Given the description of an element on the screen output the (x, y) to click on. 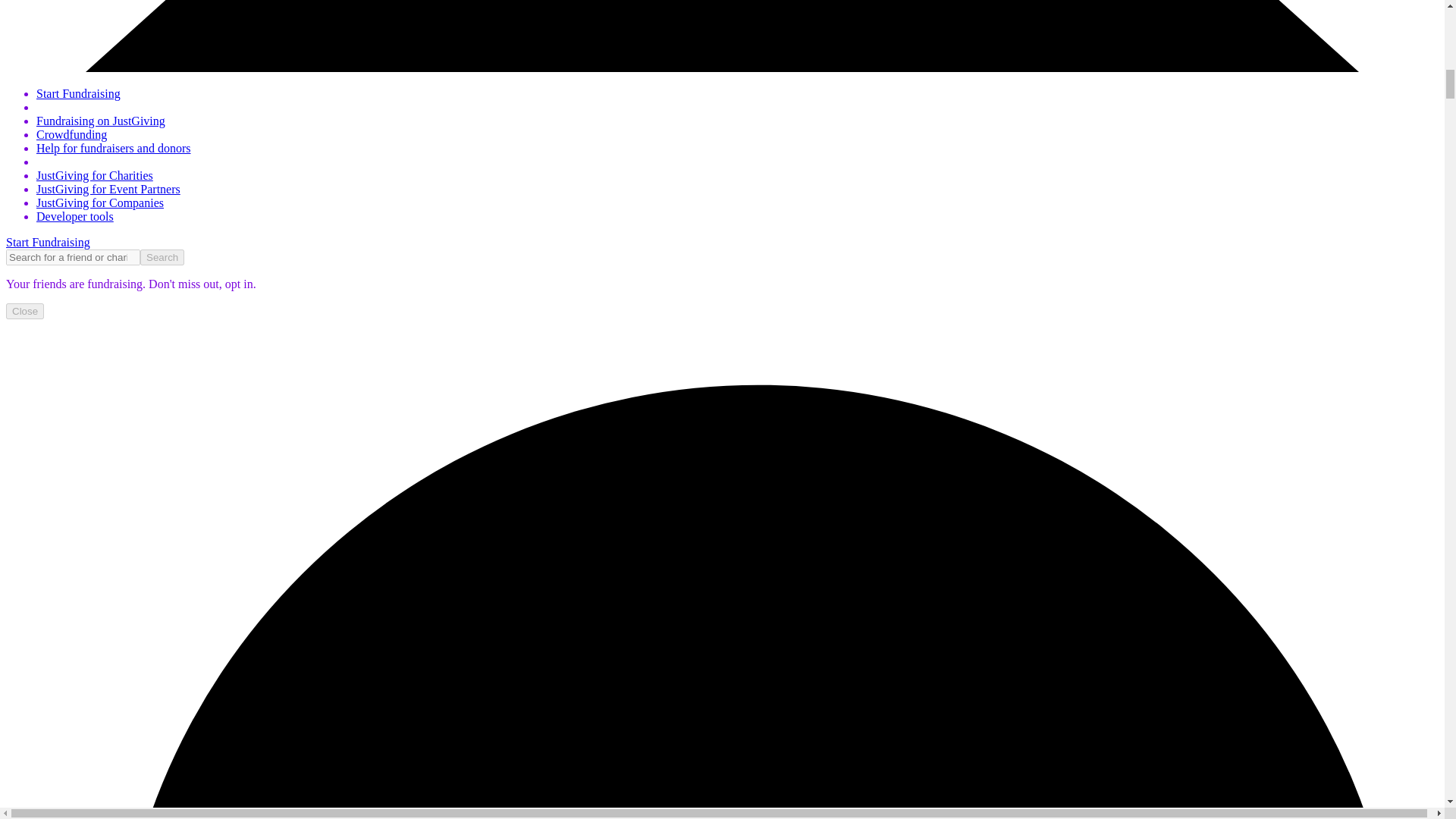
JustGiving for Event Partners (108, 188)
Search (161, 257)
Fundraising on JustGiving (100, 120)
Search (161, 257)
Search (161, 257)
Crowdfunding (71, 133)
Start Fundraising (47, 241)
Start Fundraising (78, 92)
Close (24, 311)
Developer tools (74, 215)
